Given the description of an element on the screen output the (x, y) to click on. 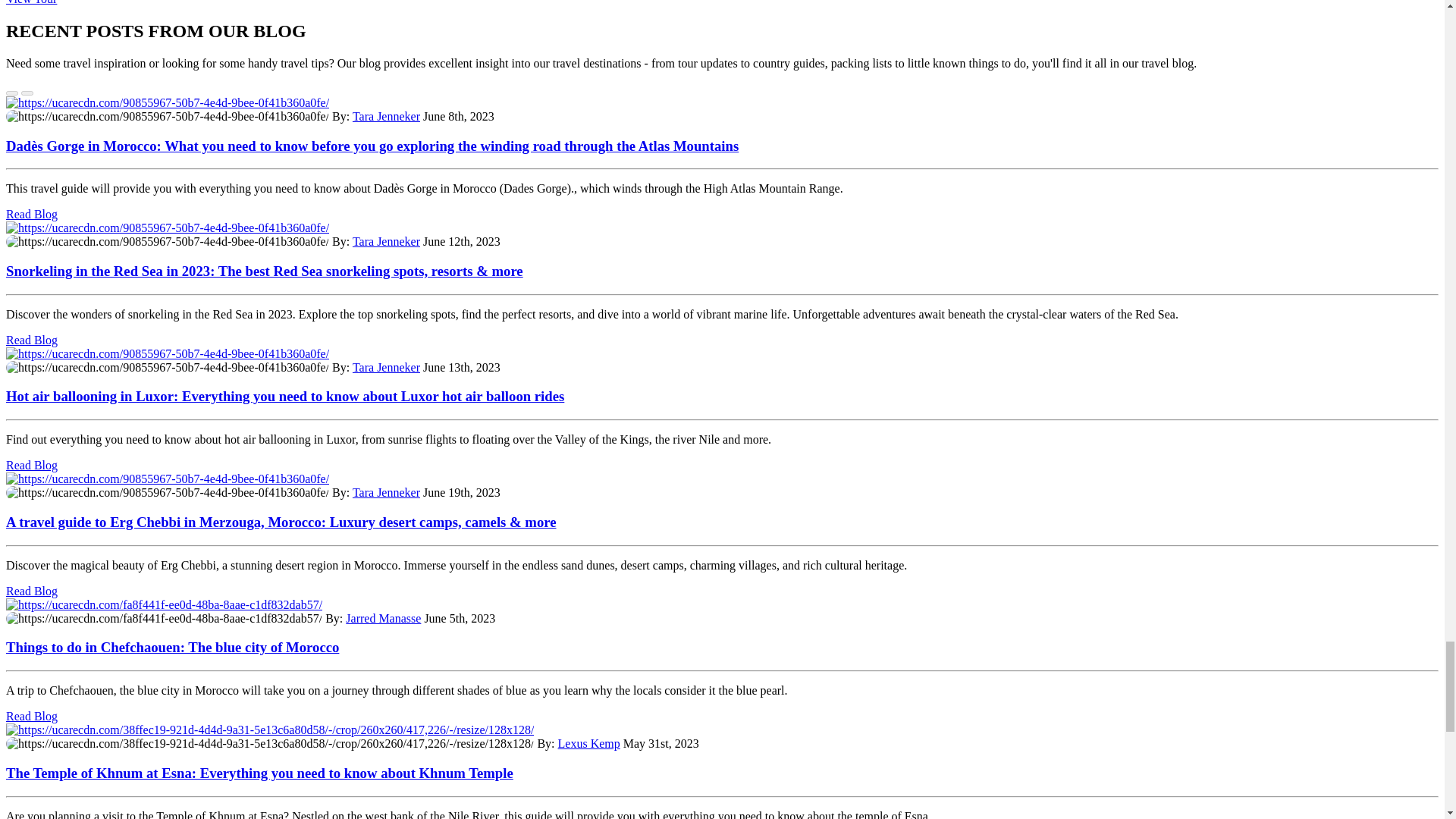
Read Blog (31, 214)
Read Blog (31, 590)
Book Now (30, 2)
Read Blog (31, 464)
Read Blog (31, 339)
Read Blog (31, 716)
